Given the description of an element on the screen output the (x, y) to click on. 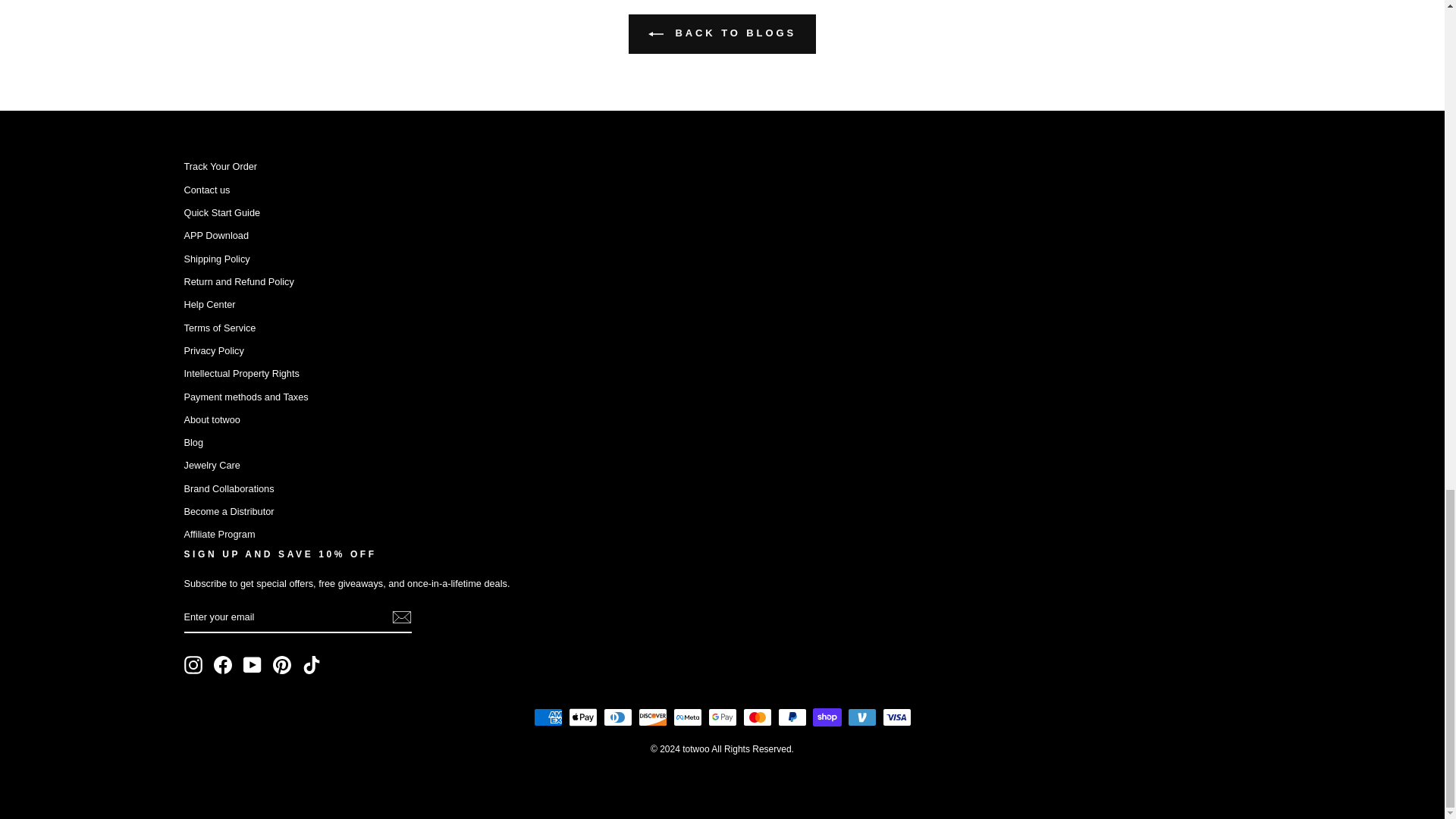
American Express (548, 717)
totwoo  on YouTube (251, 665)
instagram (192, 665)
ICON-LEFT-ARROW (655, 33)
totwoo  on Facebook (222, 665)
totwoo  on TikTok (310, 665)
icon-email (400, 617)
totwoo  on Pinterest (282, 665)
Apple Pay (582, 717)
totwoo  on Instagram (192, 665)
Diners Club (617, 717)
